Given the description of an element on the screen output the (x, y) to click on. 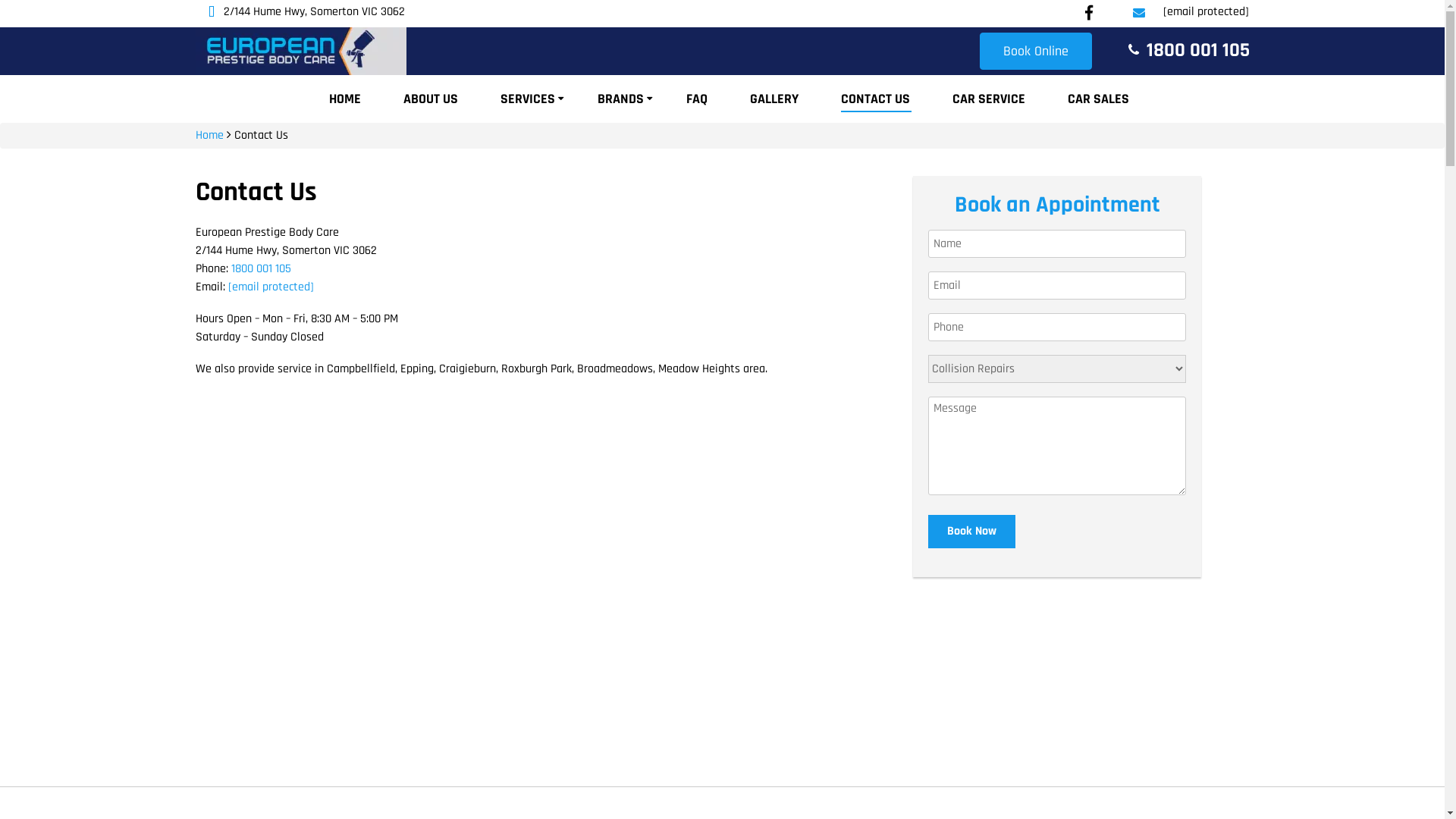
GALLERY Element type: text (774, 98)
1800 001 105 Element type: text (1197, 49)
FAQ Element type: text (696, 98)
CAR SERVICE Element type: text (988, 98)
HOME Element type: text (344, 98)
CONTACT US Element type: text (875, 98)
ABOUT US Element type: text (430, 98)
Facebook Element type: hover (1088, 13)
Book Online Element type: text (1035, 50)
BRANDS Element type: text (620, 98)
[email protected] Element type: text (1198, 11)
1800 001 105 Element type: text (260, 268)
SERVICES Element type: text (527, 98)
CAR SALES Element type: text (1097, 98)
Home Element type: text (209, 135)
Facebook Element type: hover (1088, 12)
[email protected] Element type: text (270, 286)
Book Now Element type: text (971, 531)
